Given the description of an element on the screen output the (x, y) to click on. 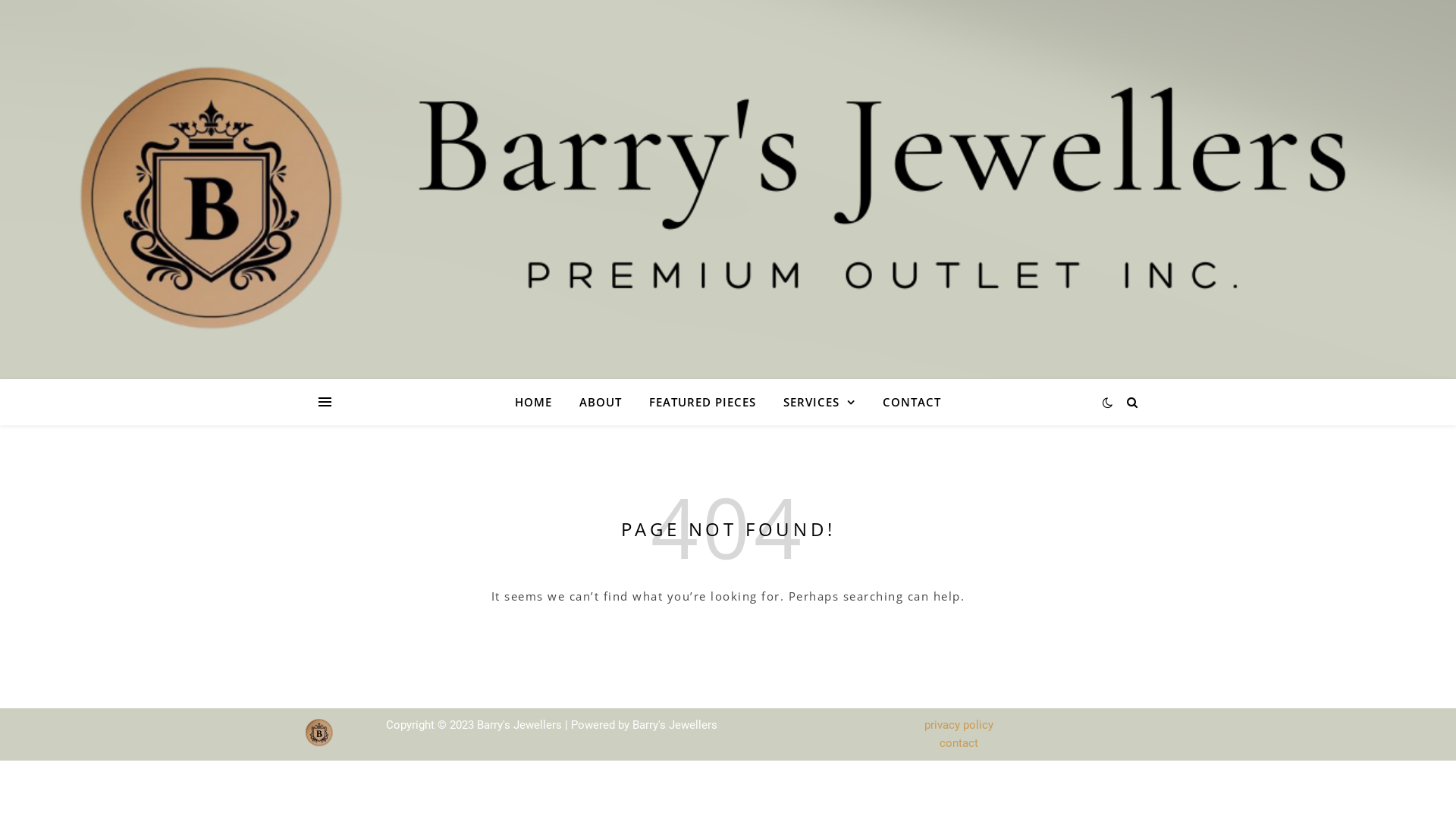
contact Element type: text (958, 742)
FEATURED PIECES Element type: text (702, 401)
privacy policy Element type: text (958, 724)
CONTACT Element type: text (905, 401)
SERVICES Element type: text (819, 402)
HOME Element type: text (539, 401)
ABOUT Element type: text (600, 401)
